Given the description of an element on the screen output the (x, y) to click on. 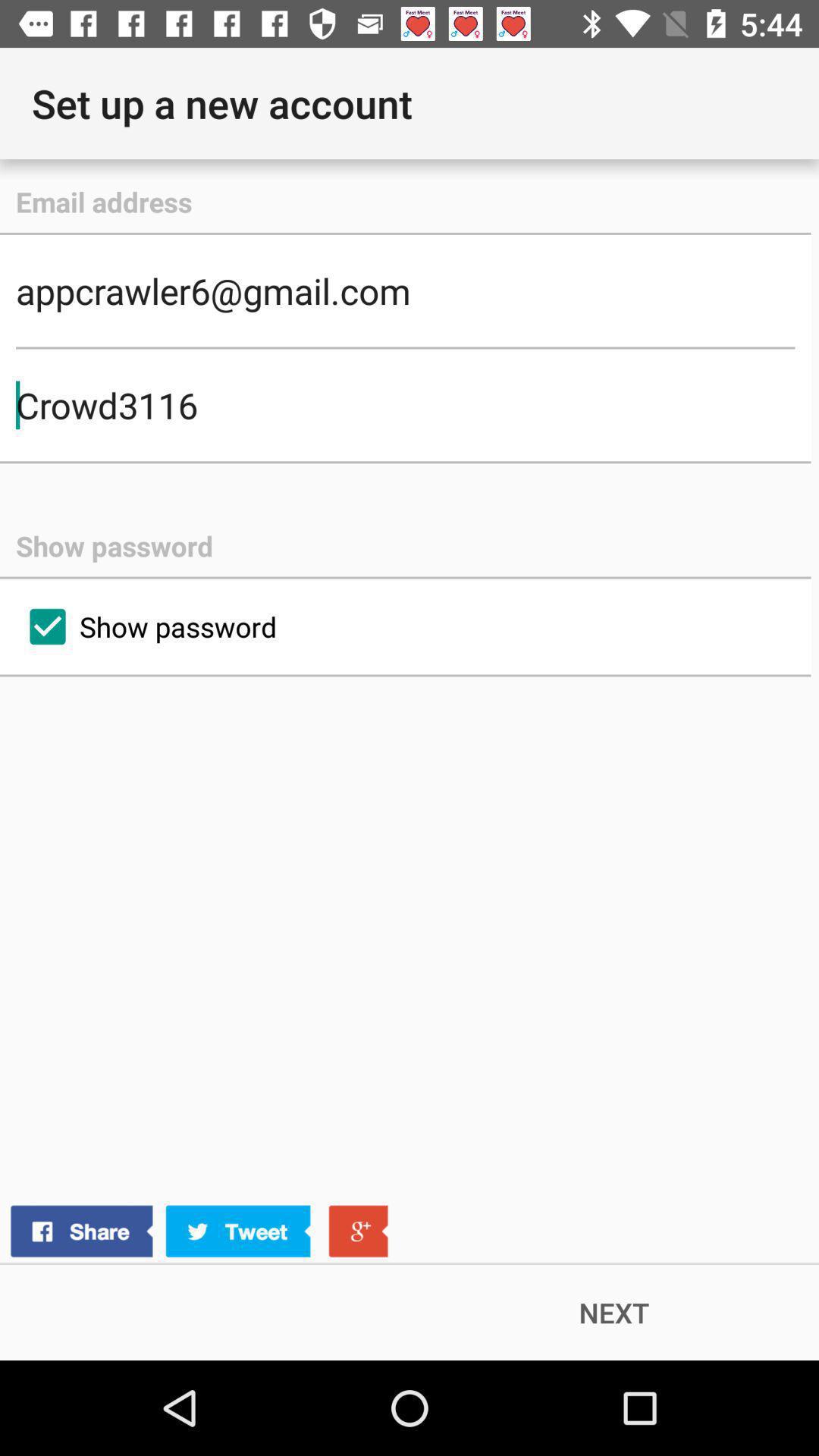
click the icon to the left of next item (199, 1231)
